Given the description of an element on the screen output the (x, y) to click on. 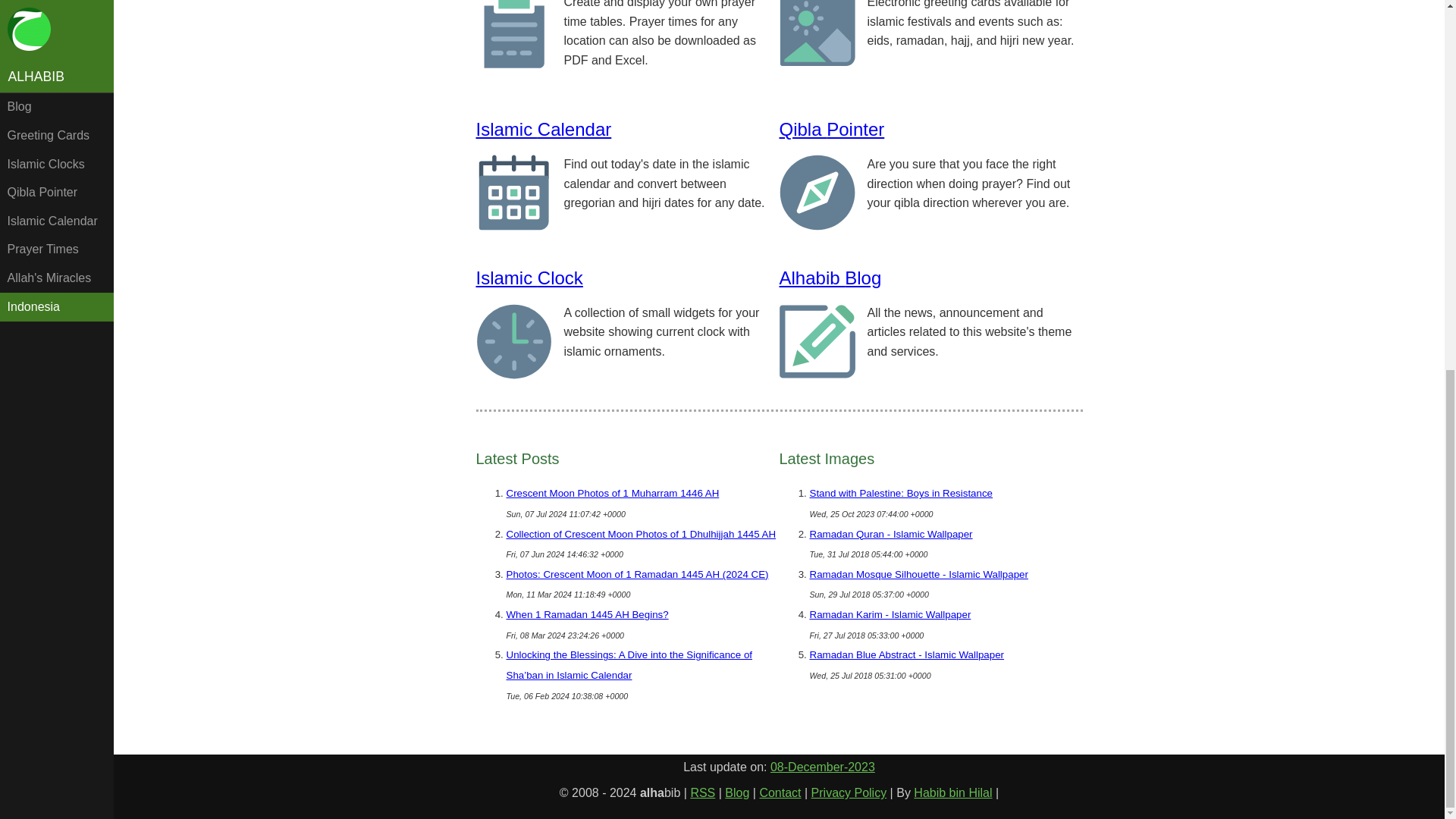
Ramadan Mosque Silhouette - Islamic Wallpaper (918, 573)
Ramadan Karim - Islamic Wallpaper (890, 614)
Collection of Crescent Moon Photos of 1 Dhulhijjah 1445 AH (641, 533)
Alhabib's Blog (737, 792)
When 1 Ramadan 1445 AH Begins? (587, 614)
RSS (702, 792)
Alhabib Blog (830, 277)
Islamic Clock (529, 277)
Ramadan Quran - Islamic Wallpaper (890, 533)
Stand with Palestine: Boys in Resistance (900, 492)
08-December-2023 (822, 766)
Blog (737, 792)
Islamic Calendar (543, 128)
Ramadan Blue Abstract - Islamic Wallpaper (906, 654)
Contact (779, 792)
